Given the description of an element on the screen output the (x, y) to click on. 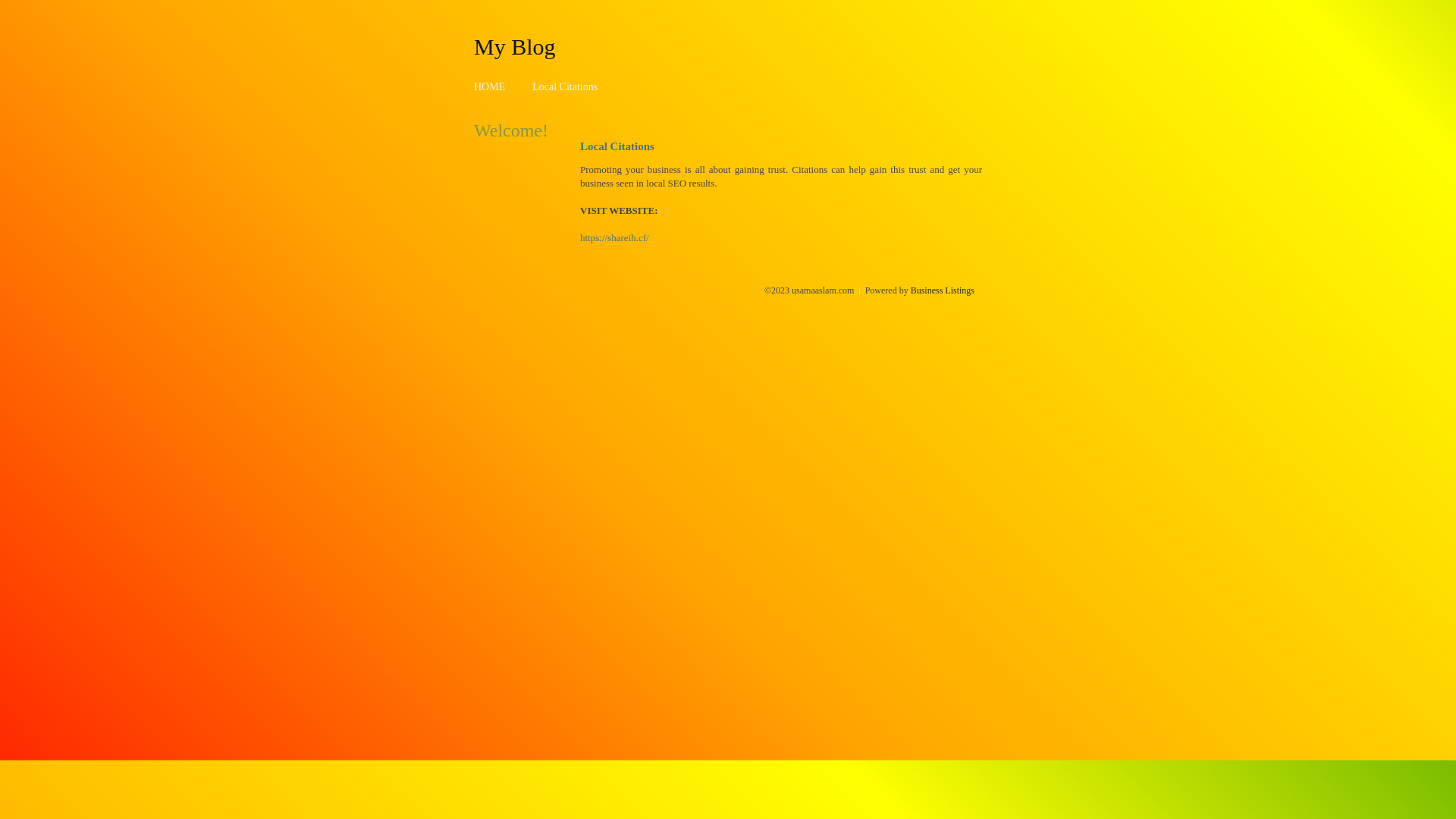
https://shareih.cf/ Element type: text (614, 237)
Business Listings Element type: text (942, 290)
My Blog Element type: text (514, 46)
Local Citations Element type: text (564, 86)
HOME Element type: text (489, 86)
